Given the description of an element on the screen output the (x, y) to click on. 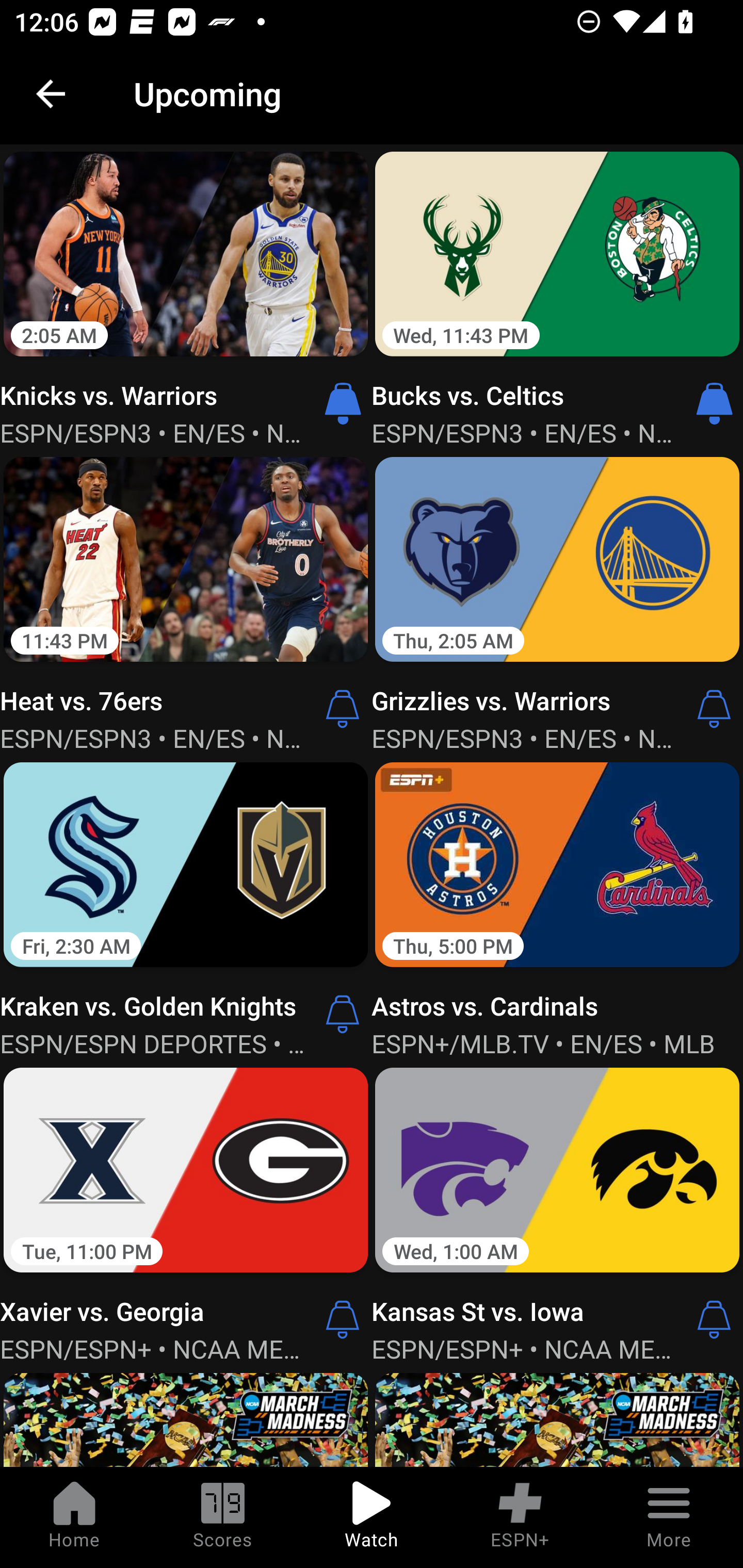
Alerts (342, 708)
Alerts (714, 708)
Alerts (342, 1013)
Alerts (342, 1319)
Alerts (714, 1319)
Home (74, 1517)
Scores (222, 1517)
ESPN+ (519, 1517)
More (668, 1517)
